Given the description of an element on the screen output the (x, y) to click on. 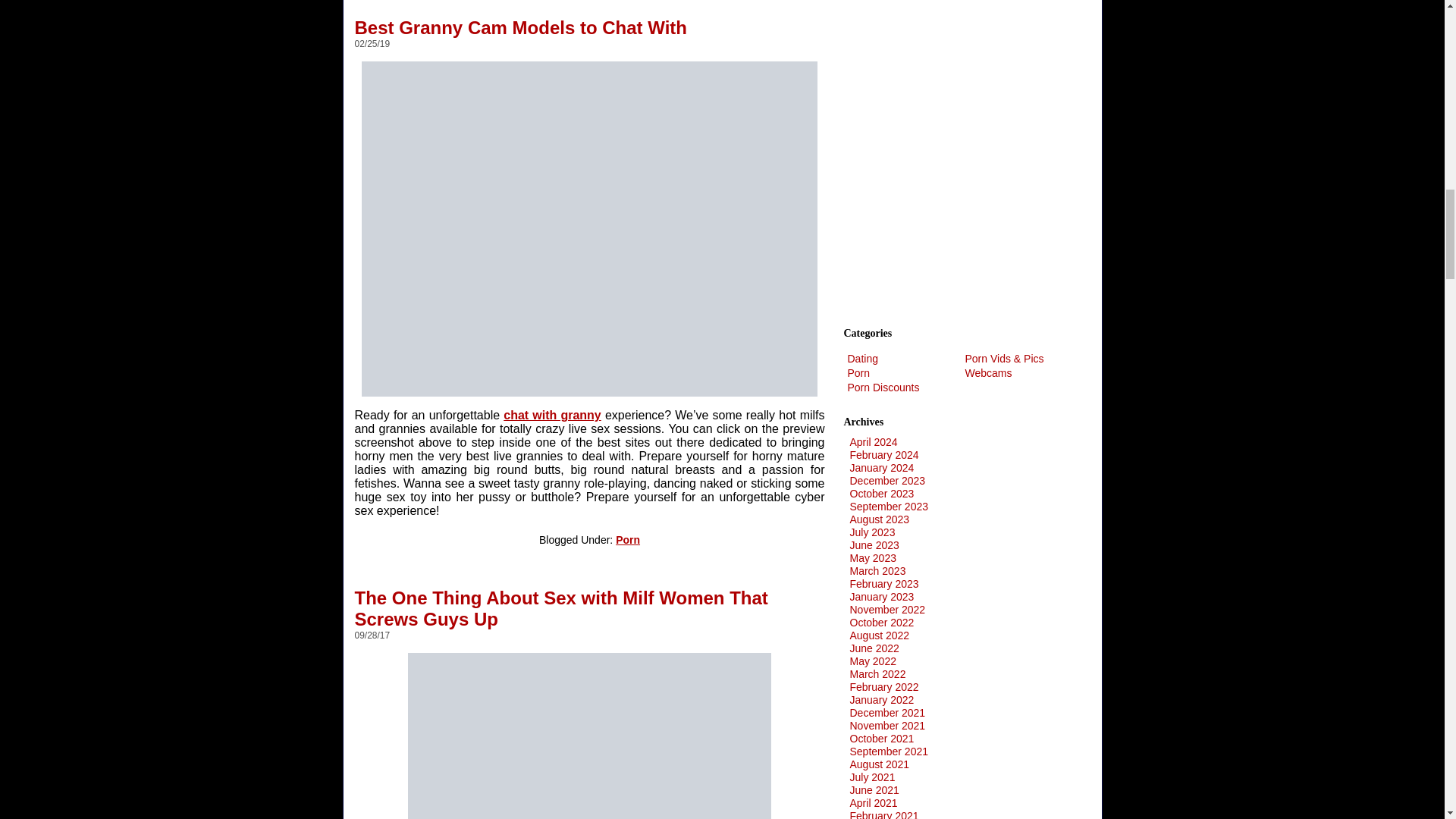
chat with granny (552, 414)
Best Granny Cam Models to Chat With (521, 21)
The One Thing About Sex with Milf Women That Screws Guys Up (561, 602)
Porn (627, 539)
rusha (589, 735)
